Given the description of an element on the screen output the (x, y) to click on. 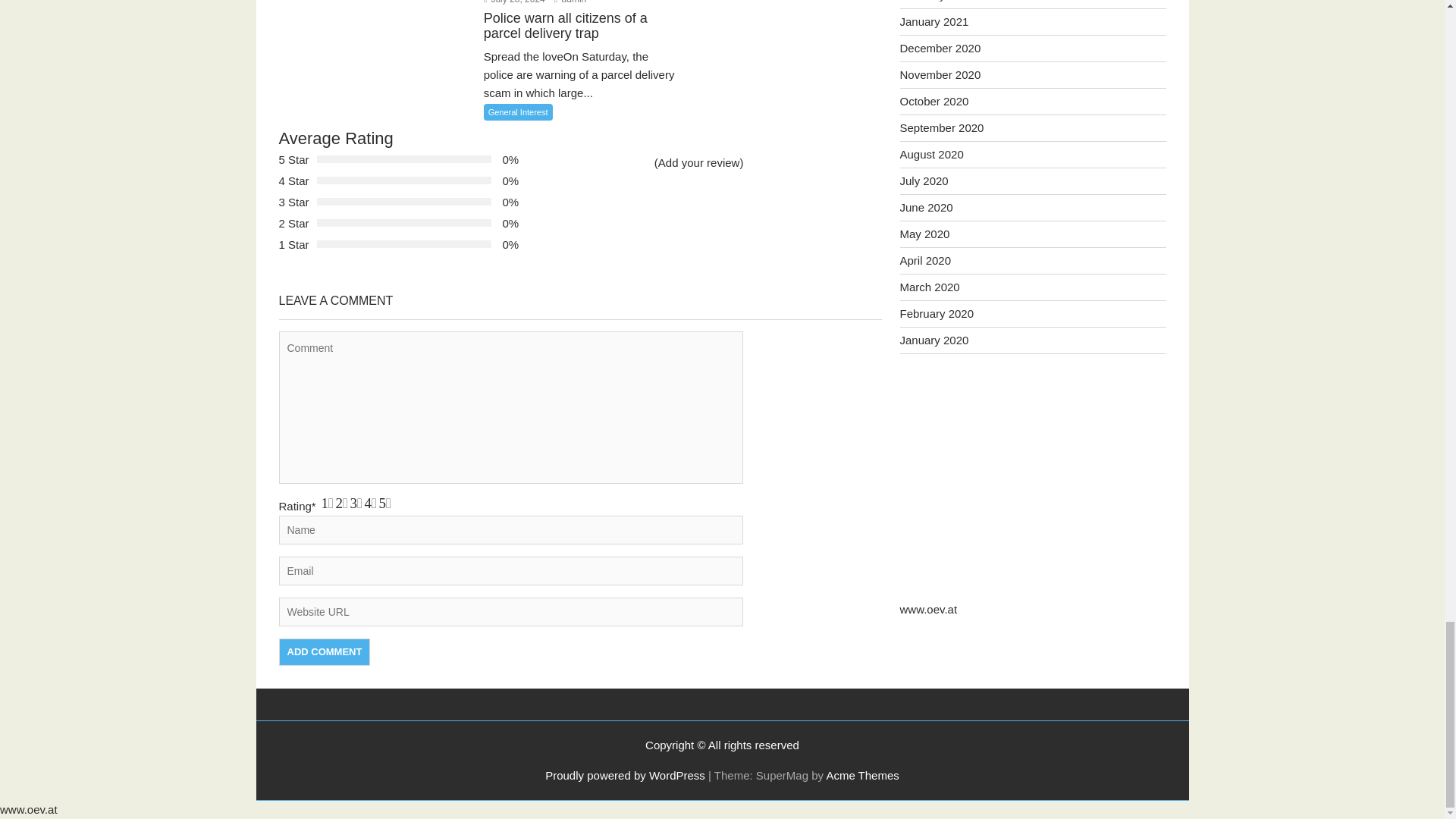
Add Comment (325, 651)
